Given the description of an element on the screen output the (x, y) to click on. 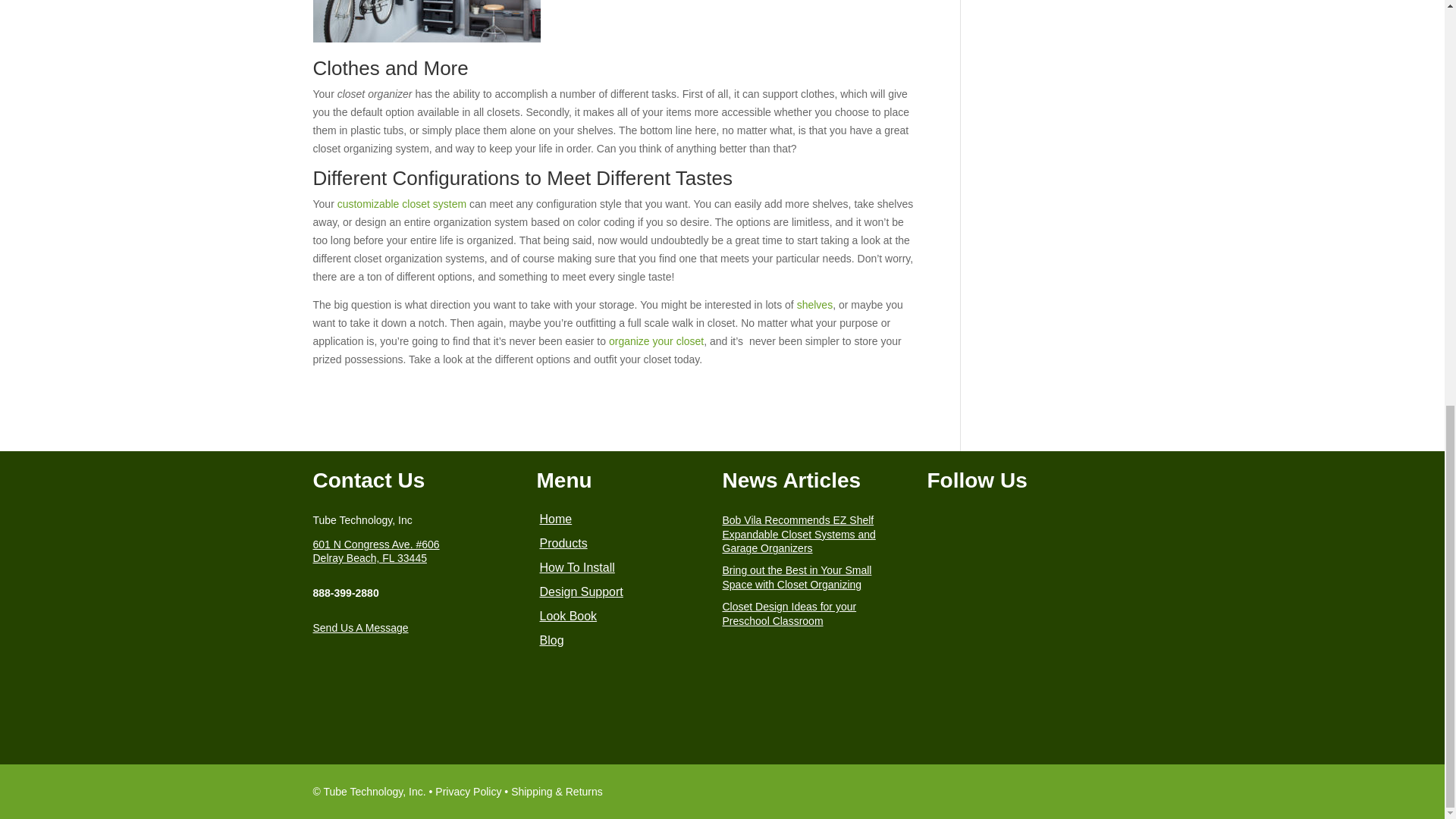
customizable closet system (401, 203)
Products (564, 543)
Delray Beach, FL 33445 (369, 558)
Closet Design Ideas for your Preschool Classroom (789, 613)
Privacy Policy (467, 791)
organize your closet (655, 340)
Closet Organizer Ideas (426, 21)
Home (556, 518)
